Given the description of an element on the screen output the (x, y) to click on. 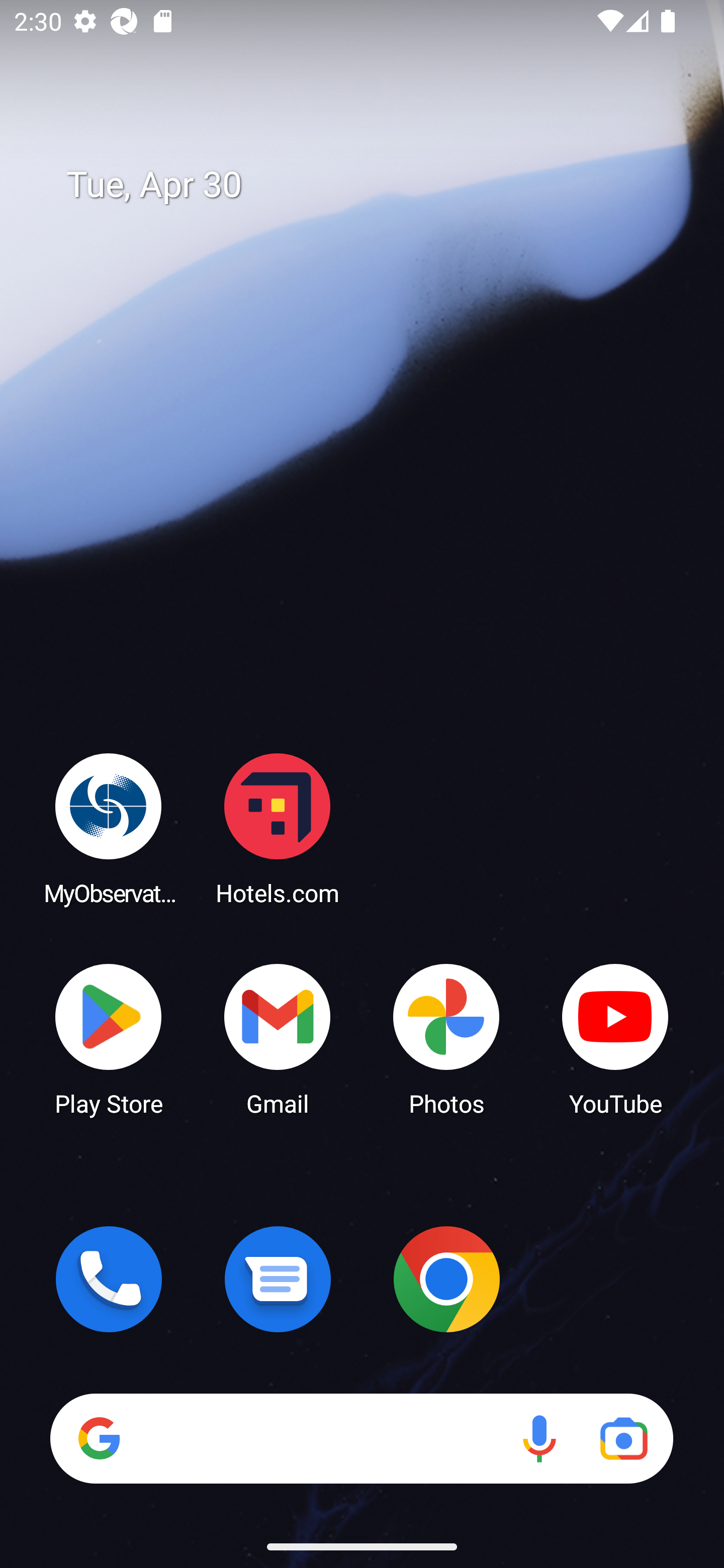
Tue, Apr 30 (375, 184)
MyObservatory (108, 828)
Hotels.com (277, 828)
Play Store (108, 1038)
Gmail (277, 1038)
Photos (445, 1038)
YouTube (615, 1038)
Phone (108, 1279)
Messages (277, 1279)
Chrome (446, 1279)
Voice search (539, 1438)
Google Lens (623, 1438)
